Given the description of an element on the screen output the (x, y) to click on. 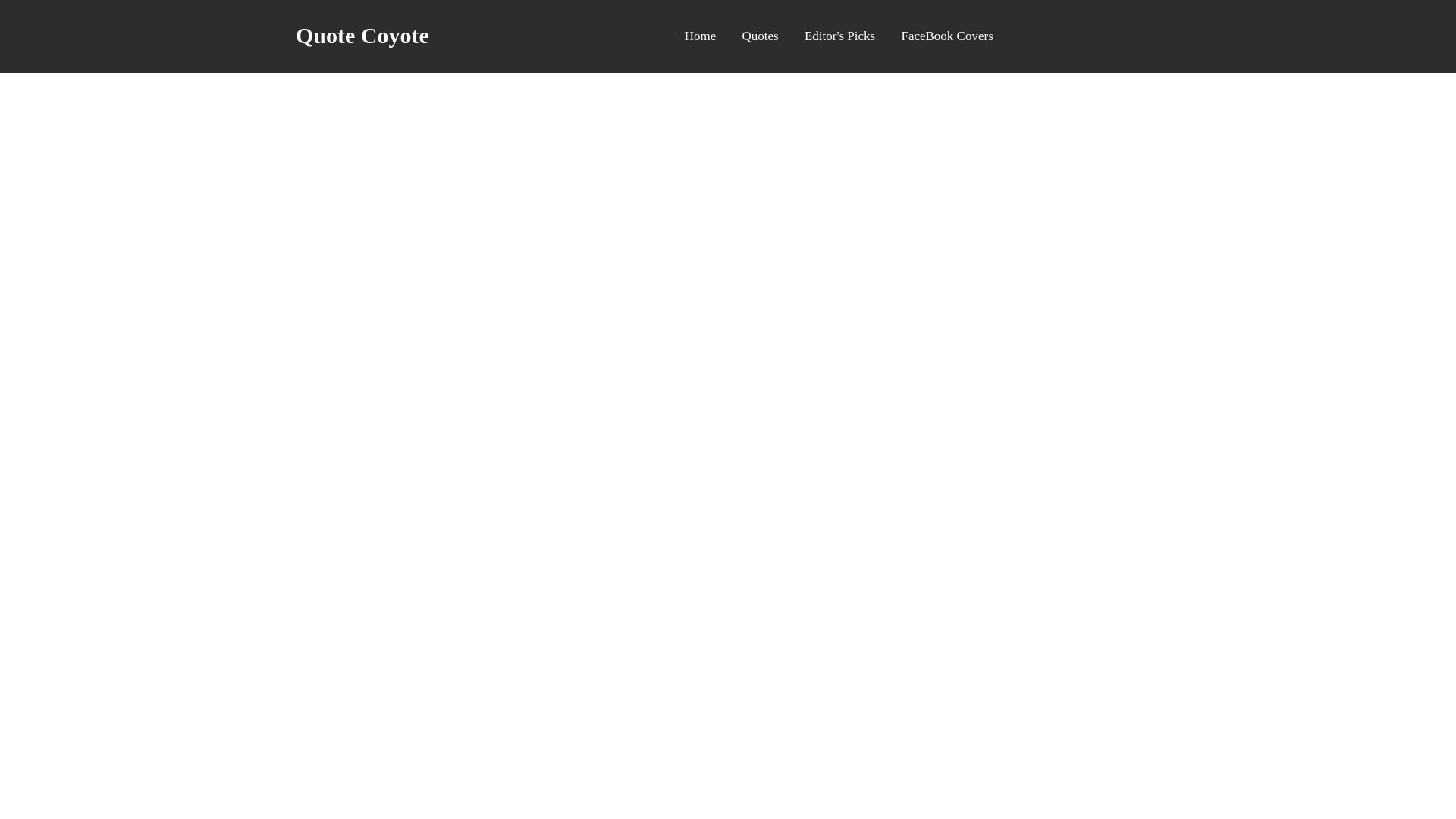
Quote Coyote (362, 35)
Editor's Picks (839, 36)
FaceBook Covers (946, 36)
